Given the description of an element on the screen output the (x, y) to click on. 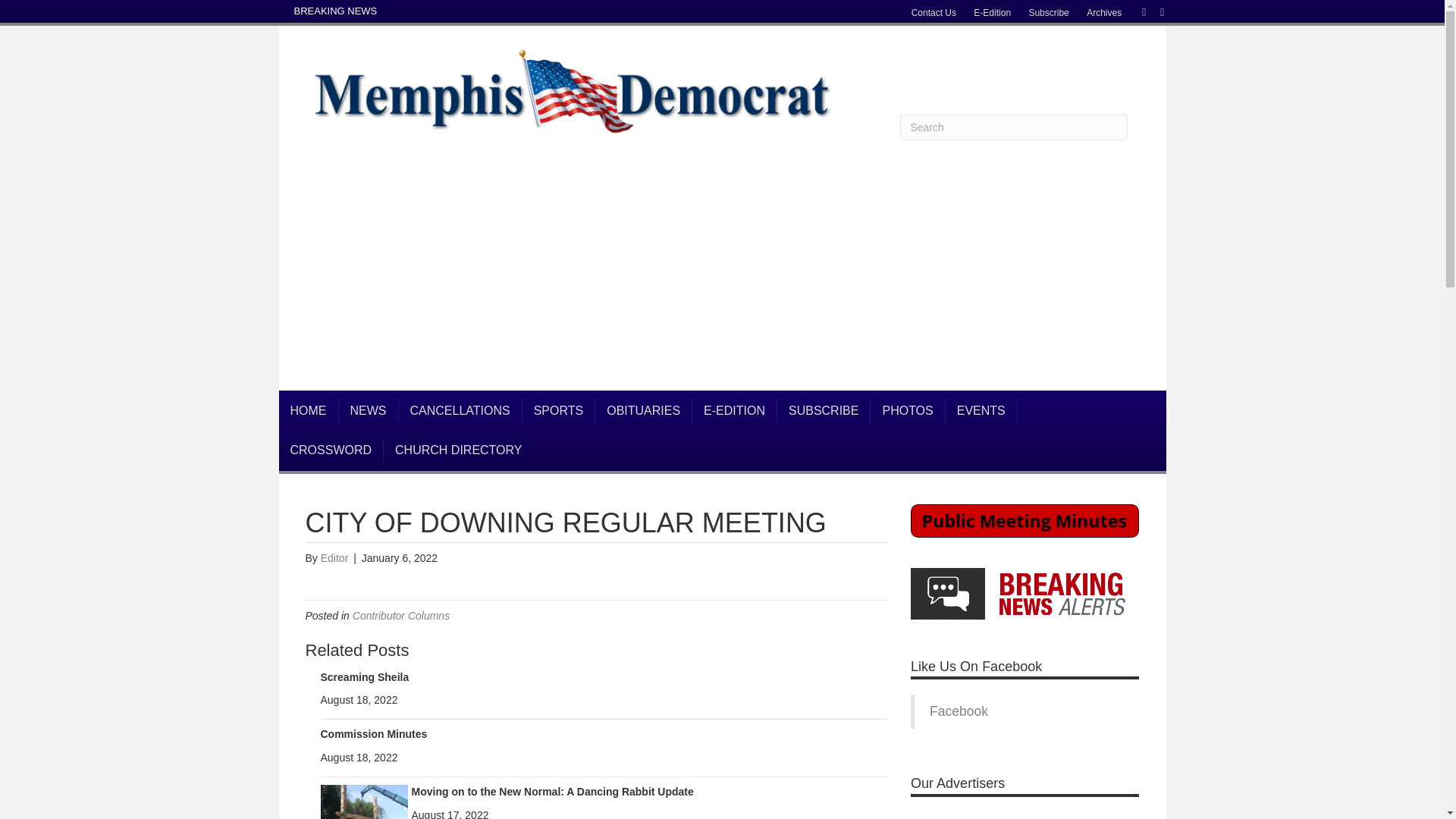
SPORTS (558, 410)
Screaming Sheila (364, 676)
Facebook (1135, 11)
Contributor Columns (400, 615)
Email (1154, 11)
Archives (1103, 13)
CHURCH DIRECTORY (458, 450)
SUBSCRIBE (823, 410)
Screaming Sheila (364, 676)
Type and press Enter to search. (1012, 127)
CANCELLATIONS (460, 410)
Subscribe (1047, 13)
NEWS (367, 410)
Contact Us (933, 13)
